Given the description of an element on the screen output the (x, y) to click on. 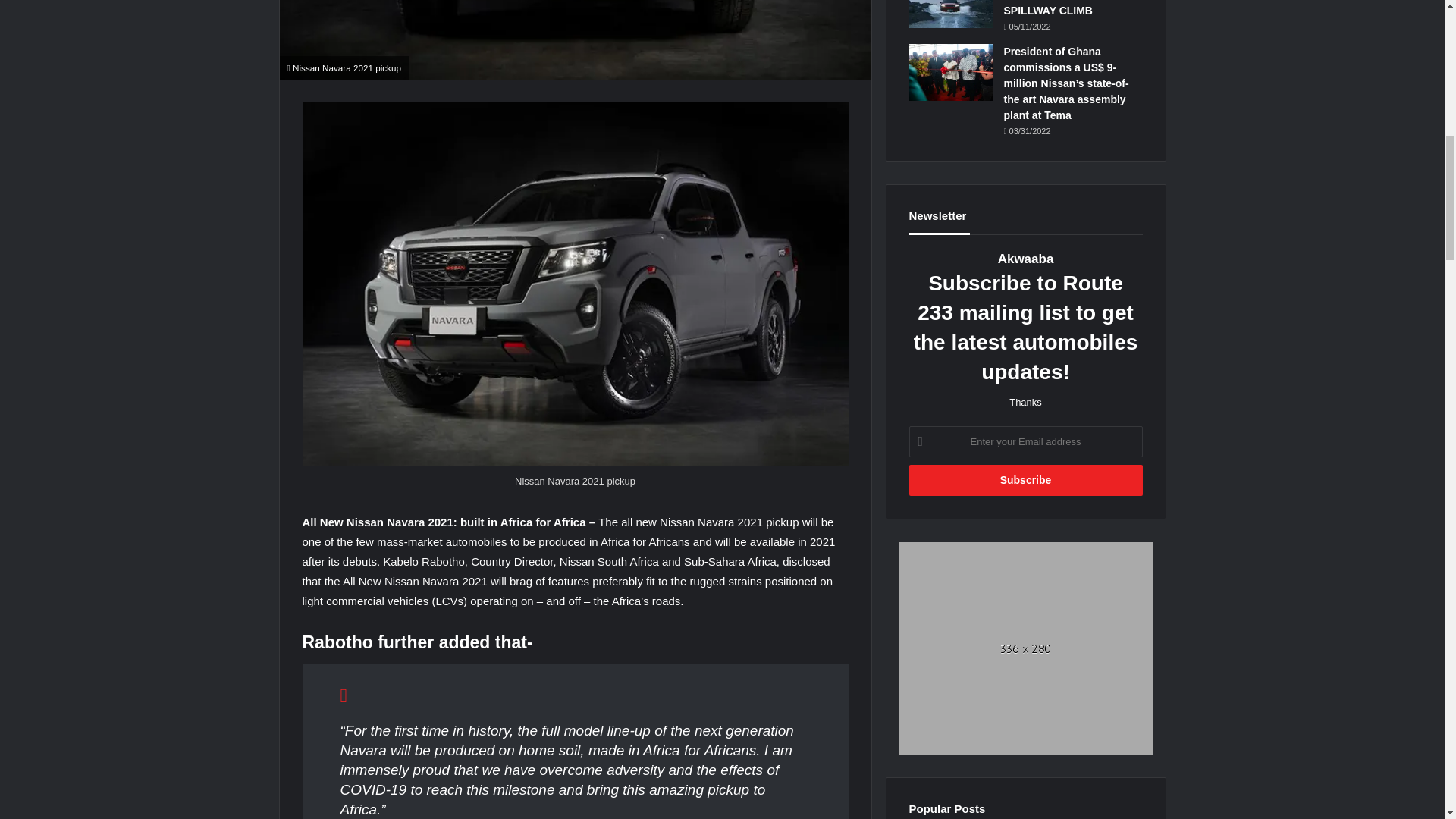
Subscribe (1025, 480)
